Given the description of an element on the screen output the (x, y) to click on. 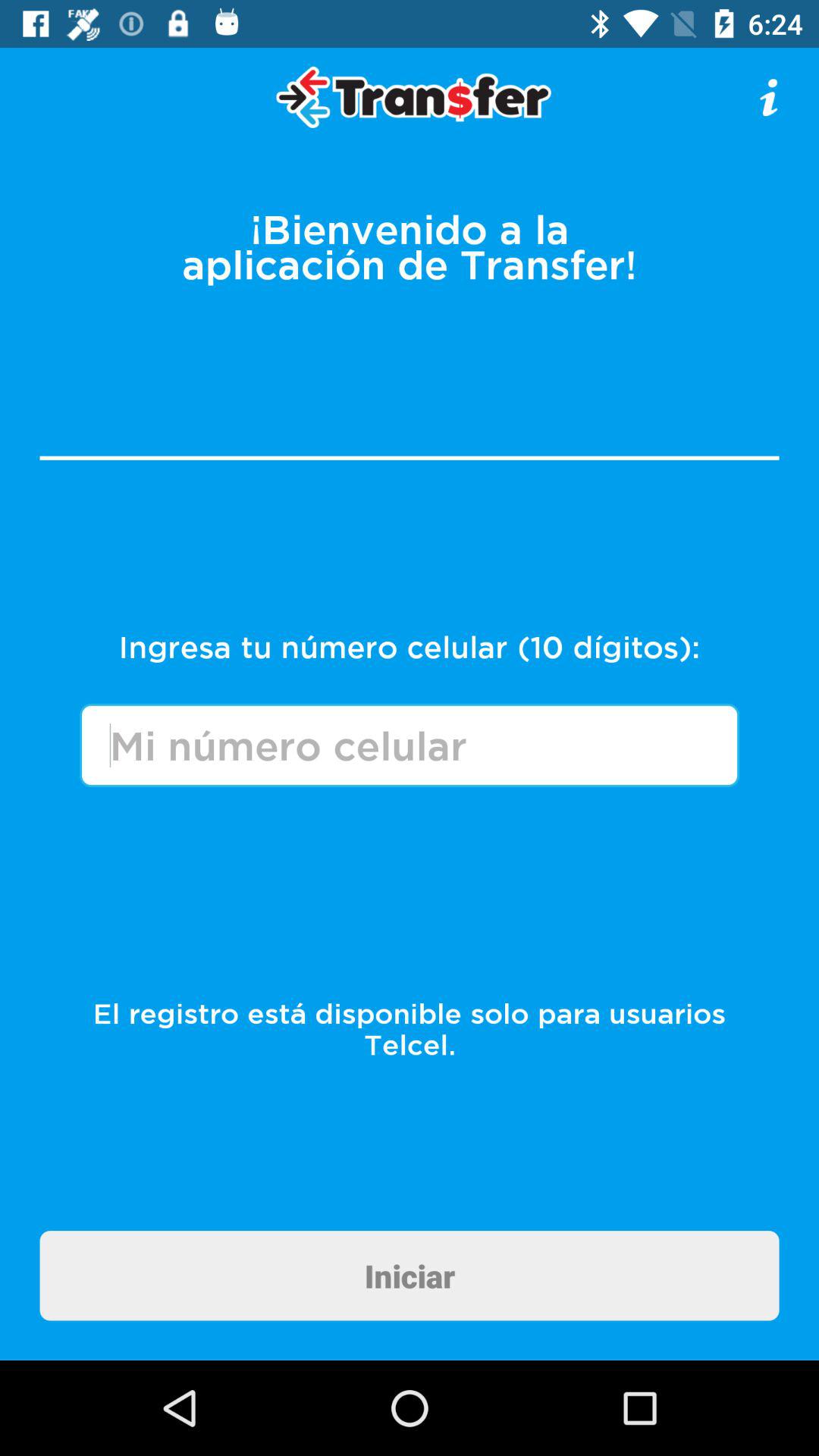
click the iniciar item (409, 1275)
